Given the description of an element on the screen output the (x, y) to click on. 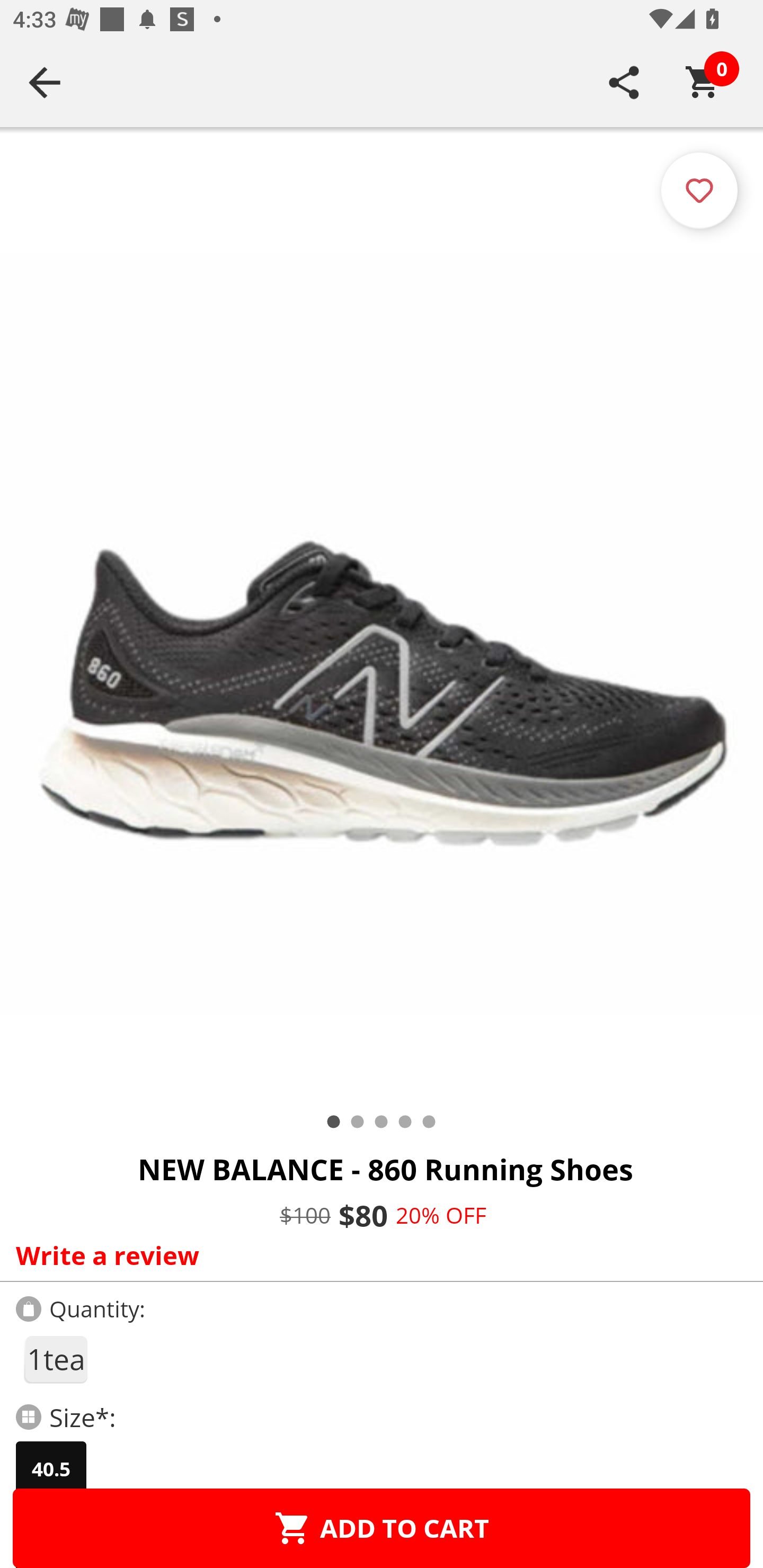
Navigate up (44, 82)
SHARE (623, 82)
Cart (703, 81)
Write a review (377, 1255)
1tea (55, 1358)
40.5 (51, 1468)
ADD TO CART (381, 1528)
